Given the description of an element on the screen output the (x, y) to click on. 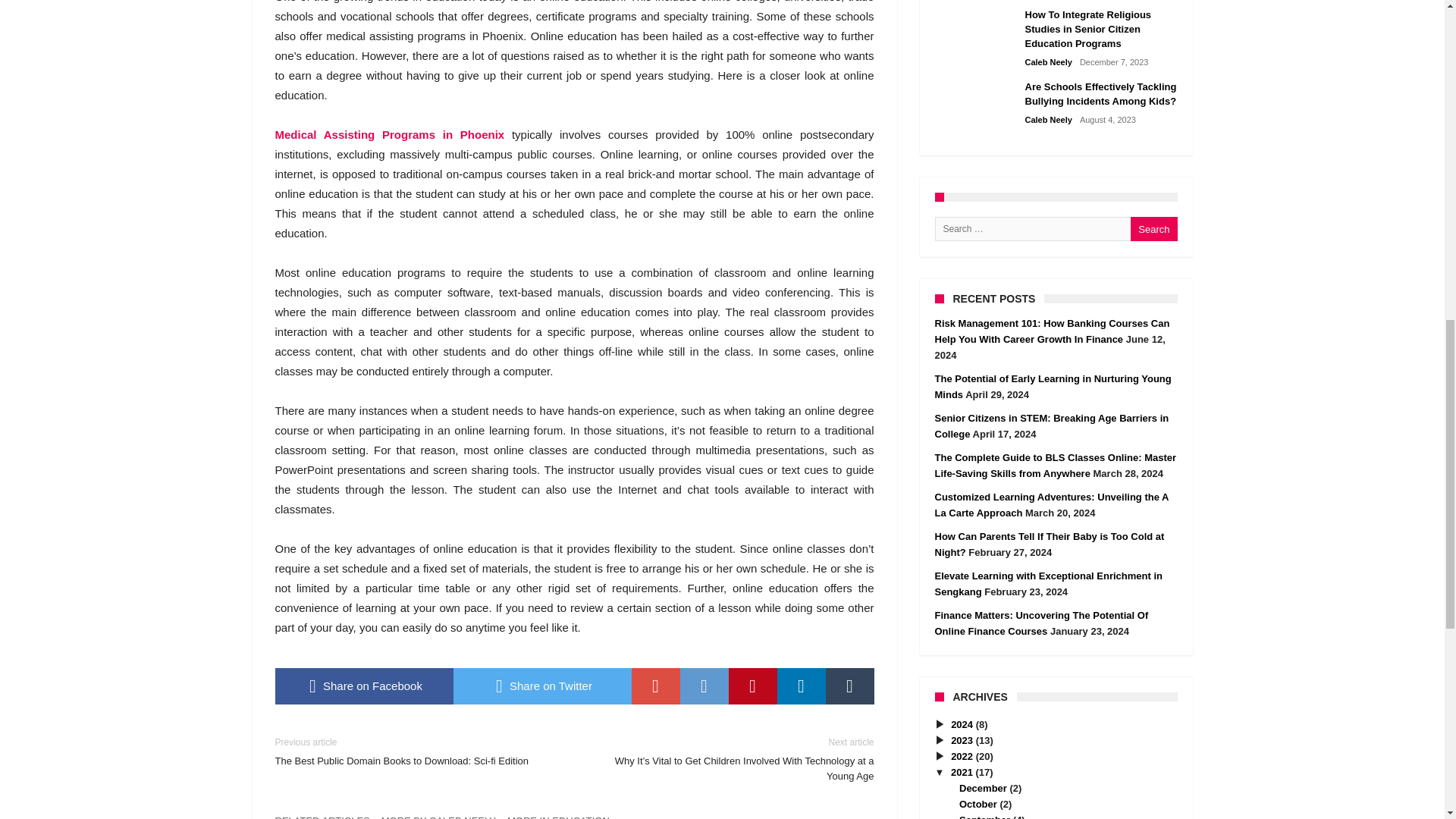
Share on Reddit (703, 686)
Search (1153, 228)
Share on Facebook (363, 686)
Medical Assisting Programs in Phoenix (389, 133)
Share on Twitter (541, 686)
Search (1153, 228)
